Given the description of an element on the screen output the (x, y) to click on. 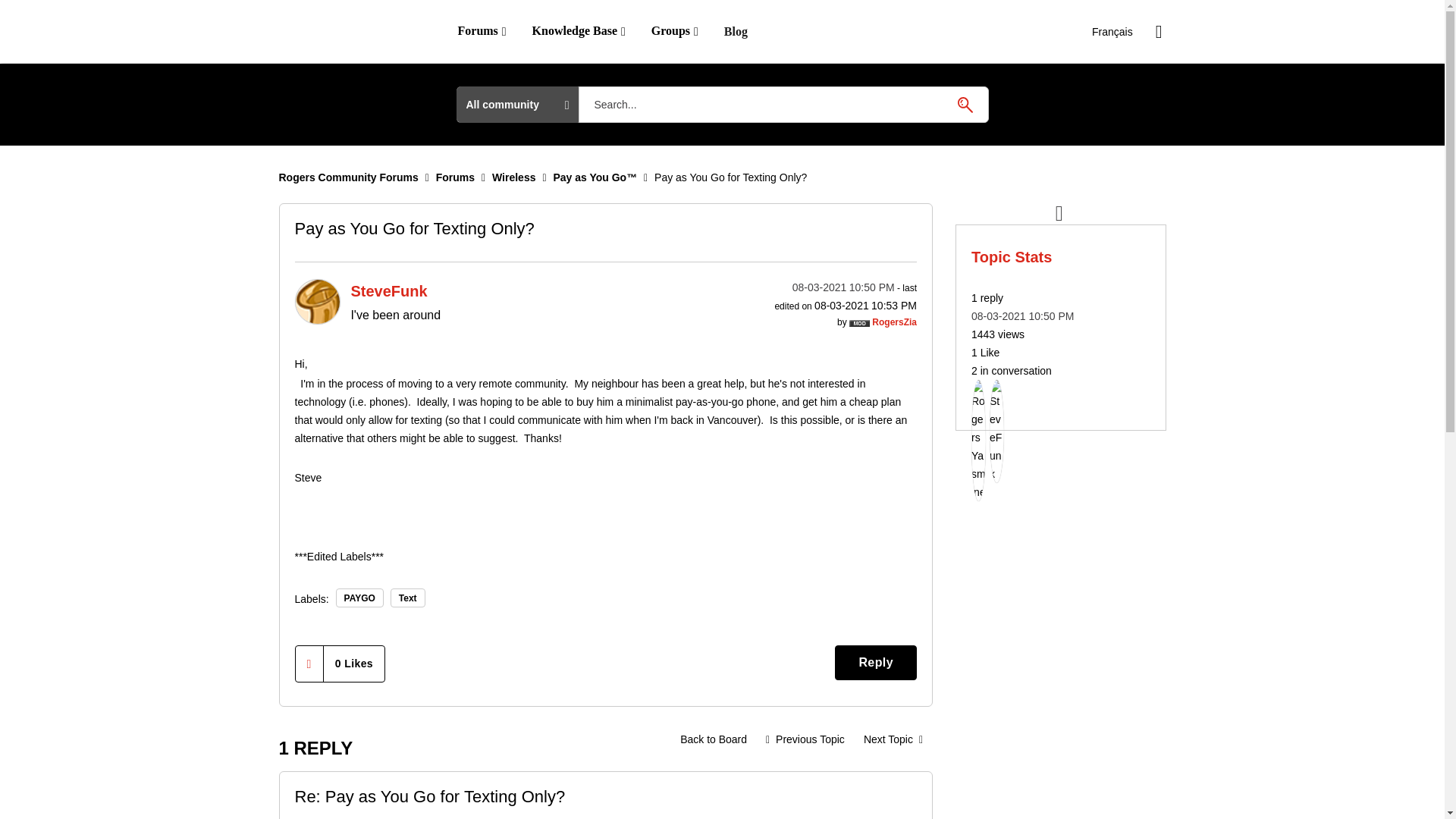
The total number of likes this post has received. (353, 663)
Groups (675, 31)
Forums (454, 177)
Rogers Community (348, 31)
Search (964, 104)
Moderator (858, 323)
Rogers Community Forums (349, 177)
Search (964, 104)
Search (964, 104)
SteveFunk (316, 301)
